Given the description of an element on the screen output the (x, y) to click on. 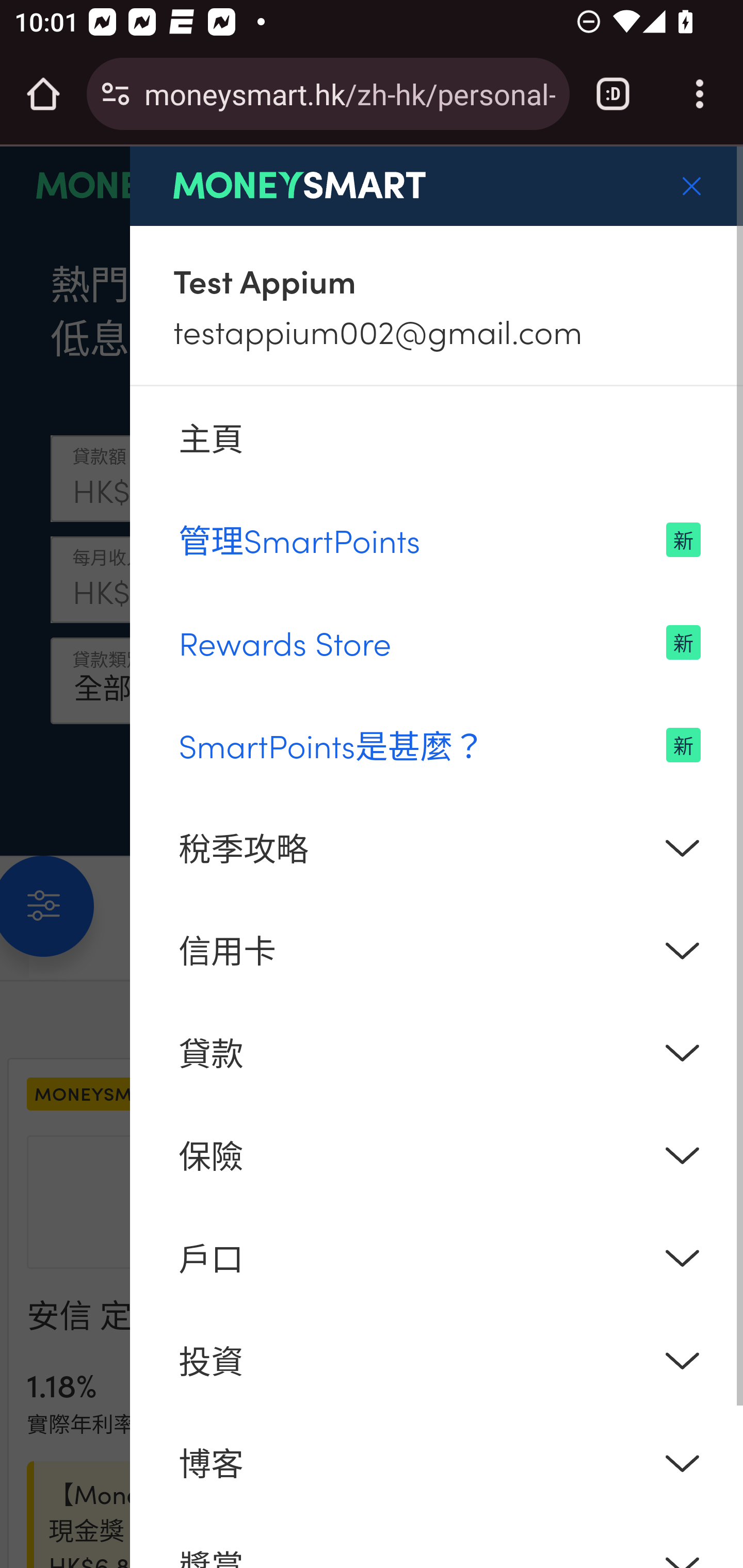
Open the home page (43, 93)
Connection is secure (115, 93)
Switch or close tabs (612, 93)
Customize and control Google Chrome (699, 93)
